Given the description of an element on the screen output the (x, y) to click on. 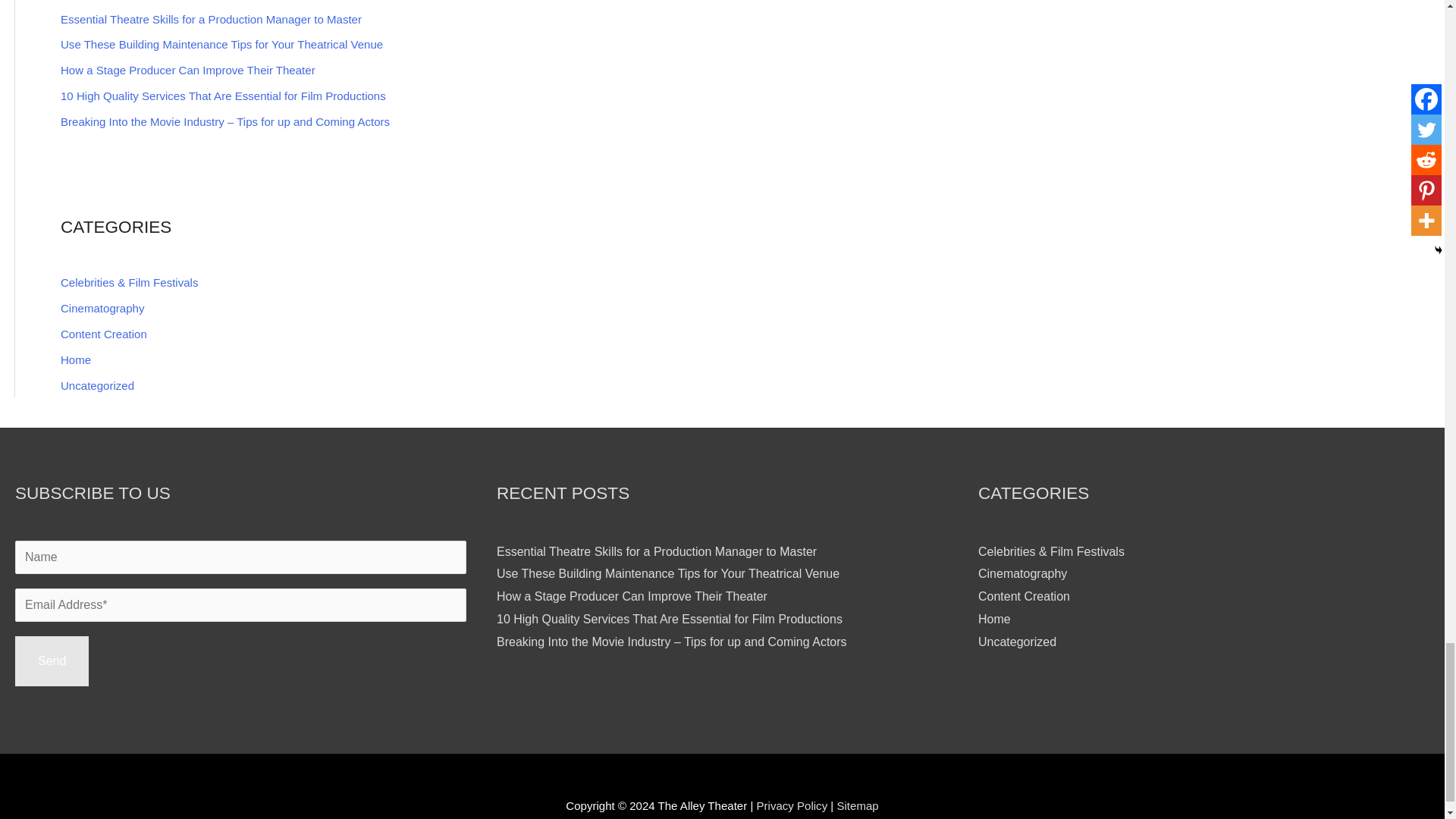
Essential Theatre Skills for a Production Manager to Master (211, 19)
Send (51, 661)
